Given the description of an element on the screen output the (x, y) to click on. 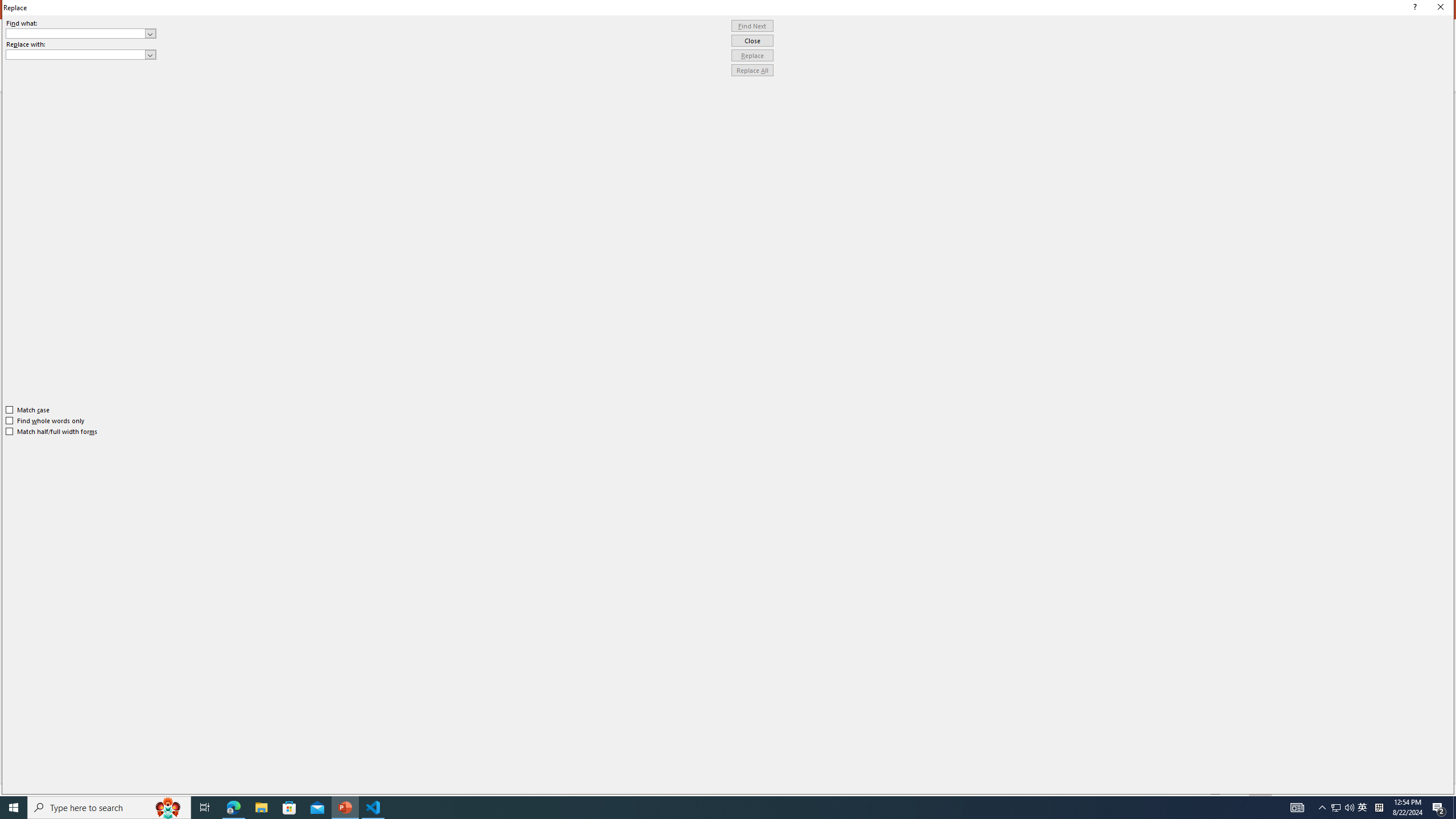
Replace with (75, 53)
Find what (75, 33)
Find Next (752, 25)
Match half/full width forms (52, 431)
Replace (752, 55)
Replace with (80, 54)
Find whole words only (45, 420)
Context help (1413, 8)
Match case (27, 409)
Replace All (752, 69)
Find what (80, 33)
